Given the description of an element on the screen output the (x, y) to click on. 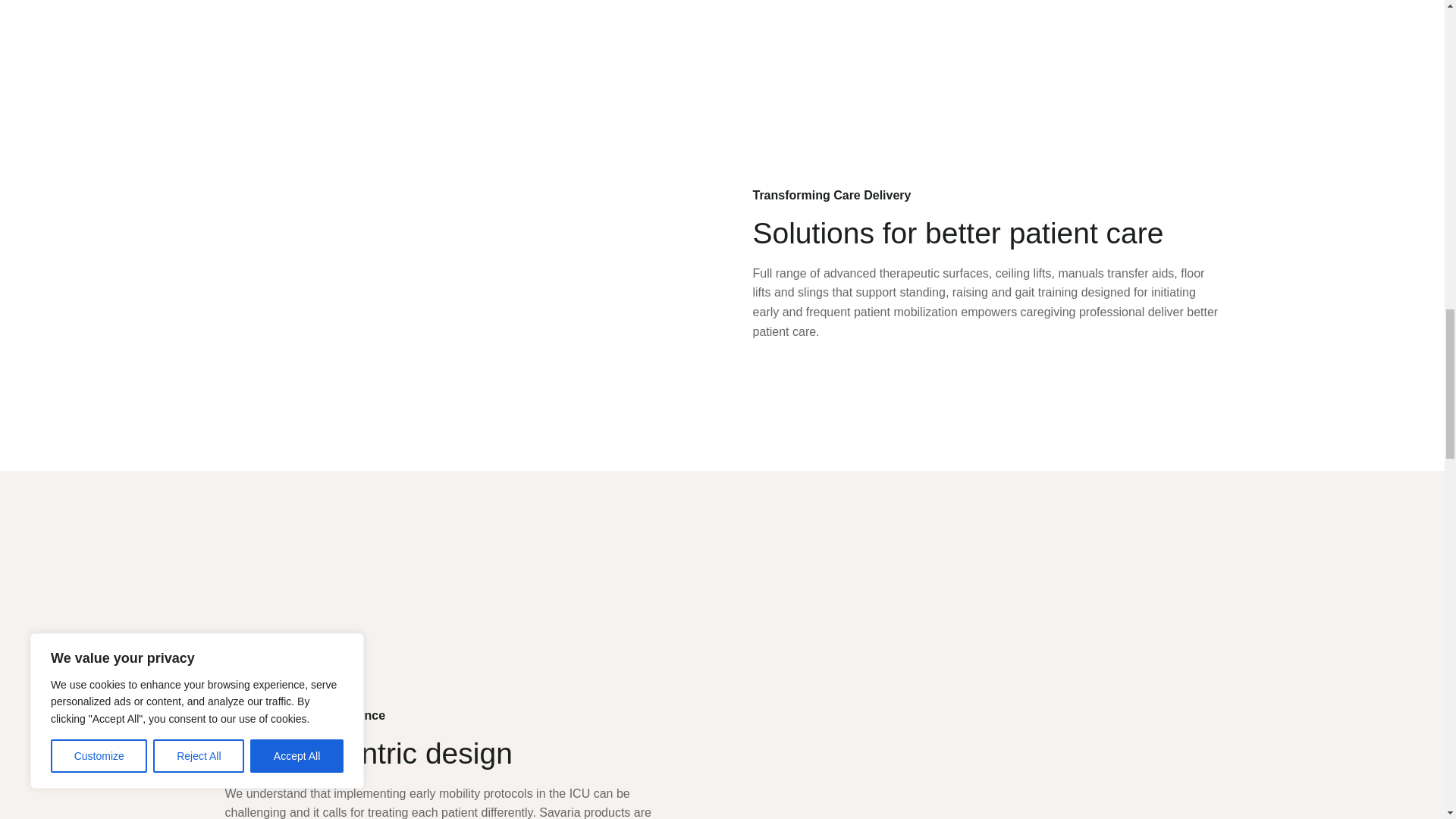
icon-green-circles (337, 638)
icon-green-circles (865, 118)
